Given the description of an element on the screen output the (x, y) to click on. 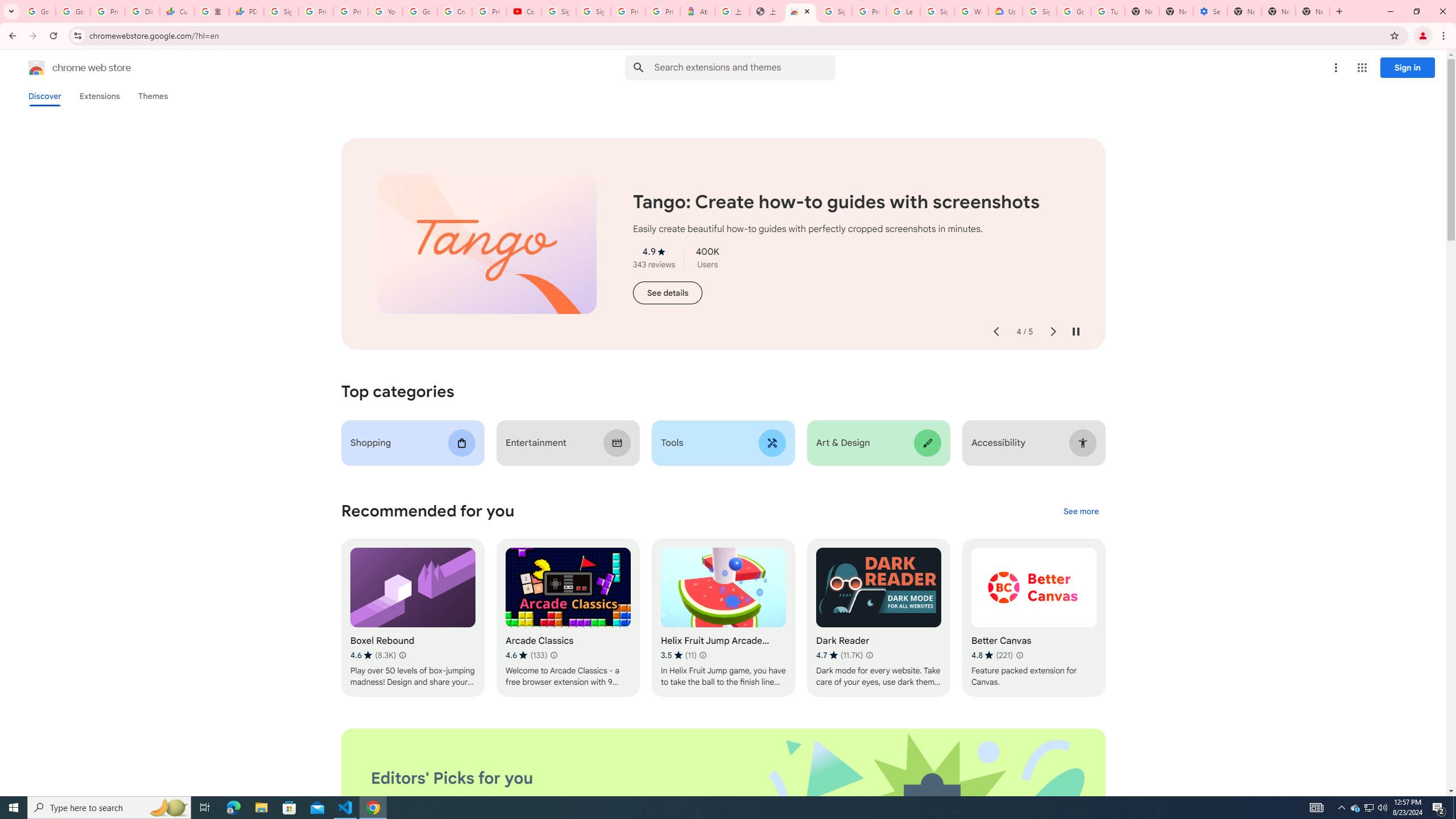
See more personalized recommendations (1080, 511)
Google Account Help (419, 11)
Settings - Addresses and more (1209, 11)
Who are Google's partners? - Privacy and conditions - Google (970, 11)
Art & Design (878, 443)
Average rating 4.7 out of 5 stars. 11.7K ratings. (839, 655)
Learn more about results and reviews "Dark Reader" (869, 655)
New Tab (1312, 11)
Sign in - Google Accounts (937, 11)
